Given the description of an element on the screen output the (x, y) to click on. 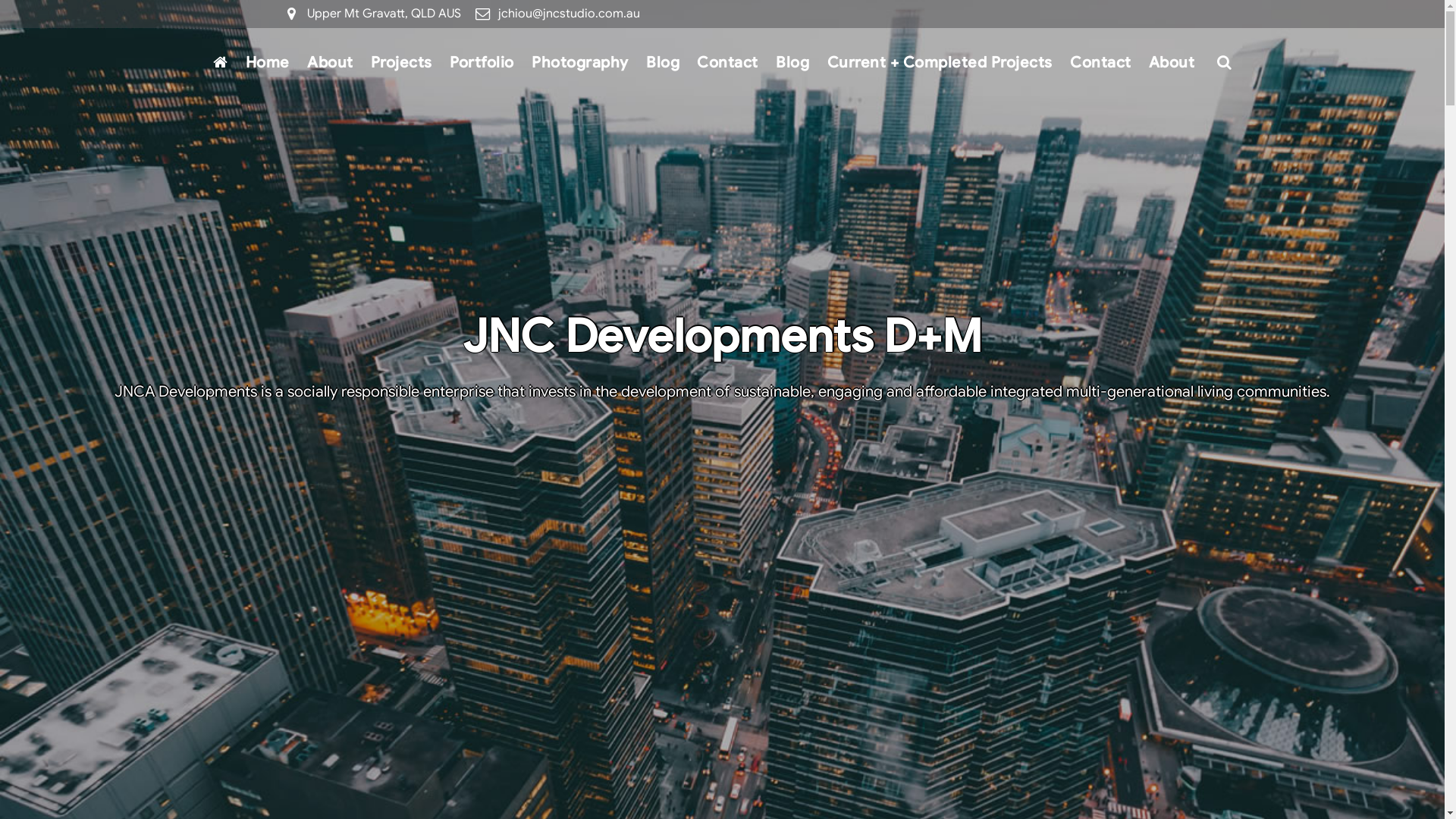
Contact Element type: text (727, 63)
Portfolio Element type: text (482, 63)
About Element type: text (1171, 63)
JNC Developments D+M Element type: text (722, 335)
Home Element type: text (267, 63)
Contact Element type: text (1099, 63)
Projects Element type: text (400, 63)
Photography Element type: text (579, 63)
Blog Element type: text (792, 63)
Current + Completed Projects Element type: text (939, 63)
jchiou@jncstudio.com.au Element type: text (568, 13)
About Element type: text (329, 63)
Blog Element type: text (662, 63)
